Given the description of an element on the screen output the (x, y) to click on. 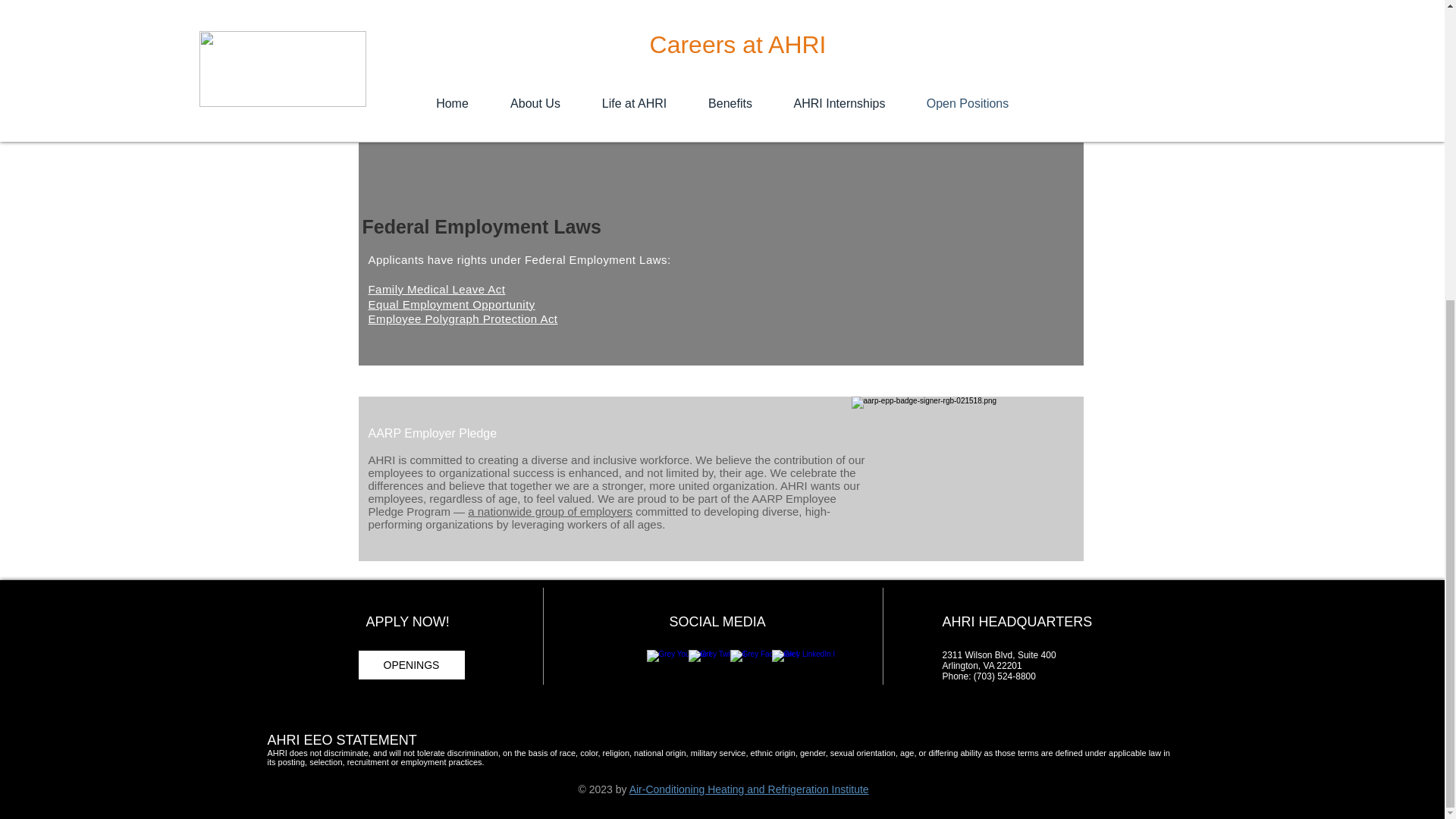
Family Medical Leave Act (436, 288)
Equal Employment Opportunity (451, 303)
Employee Polygraph Protection Act (462, 318)
OPENINGS (411, 664)
a nationwide group of employers (549, 511)
Air-Conditioning Heating and Refrigeration Institute (748, 788)
